Given the description of an element on the screen output the (x, y) to click on. 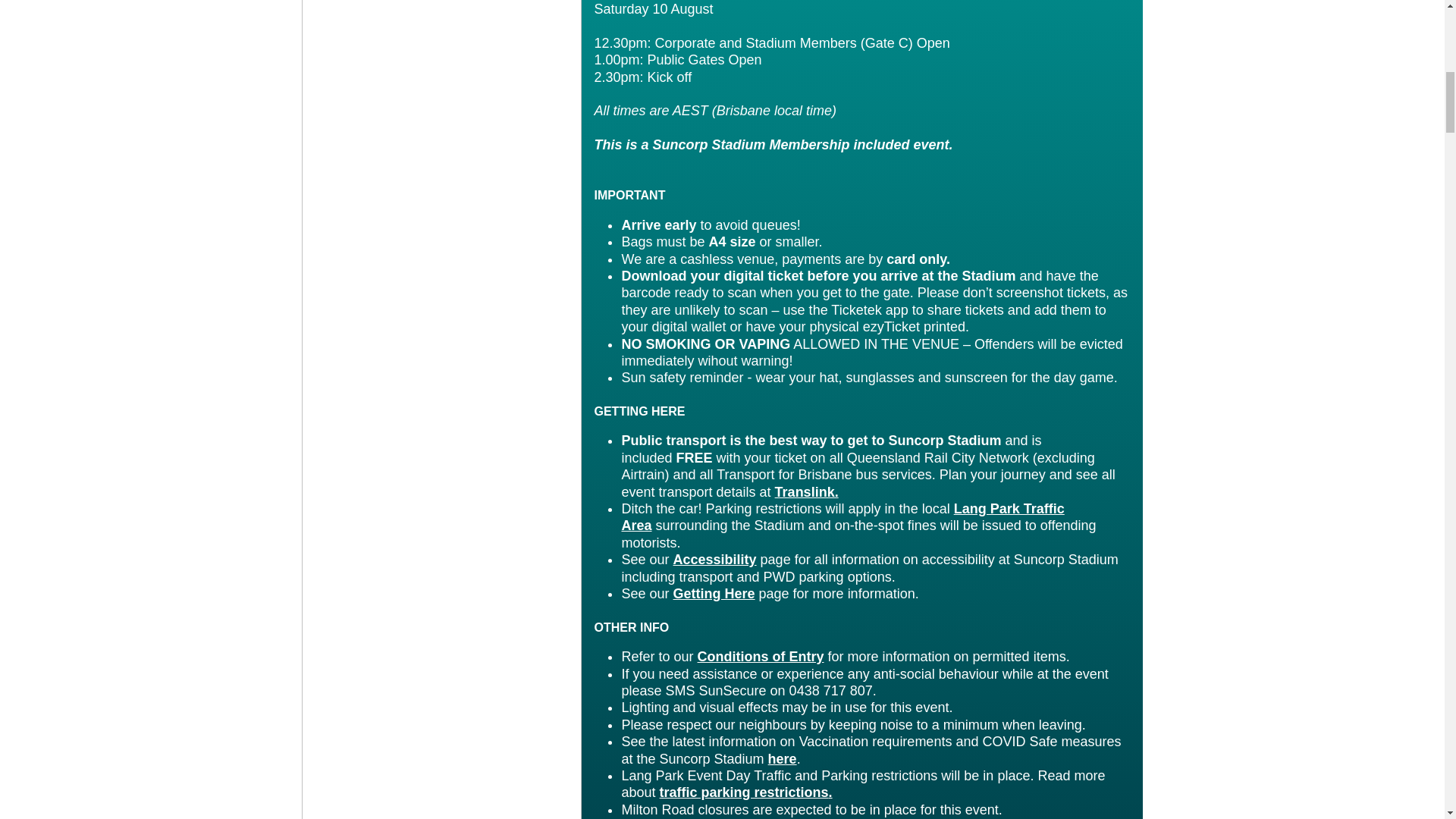
Plan your journey and see all event transport details at  (868, 482)
